Given the description of an element on the screen output the (x, y) to click on. 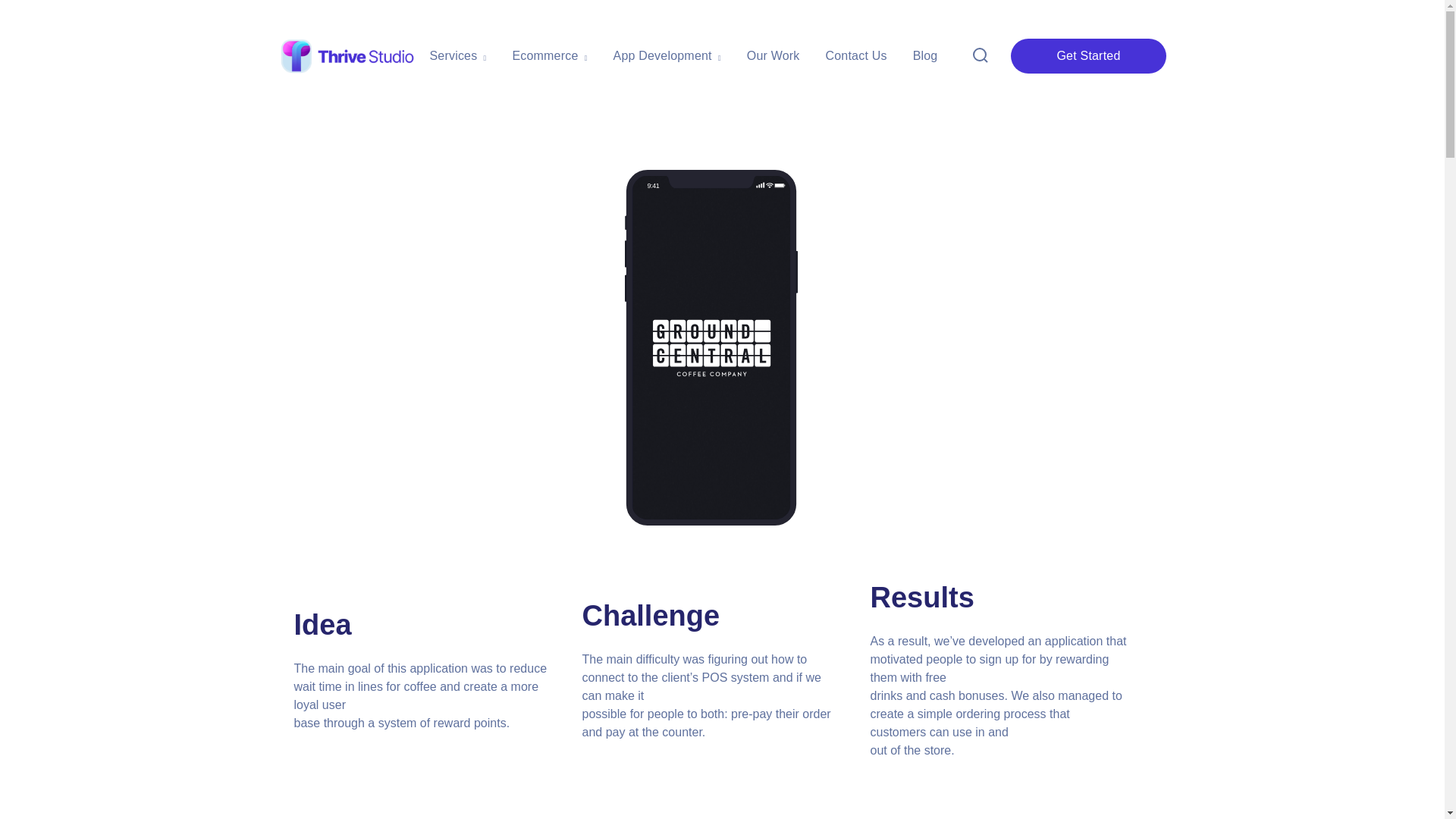
App Development (666, 56)
Thrive Studio (346, 54)
Get Started (1088, 55)
Ecommerce (549, 56)
